Given the description of an element on the screen output the (x, y) to click on. 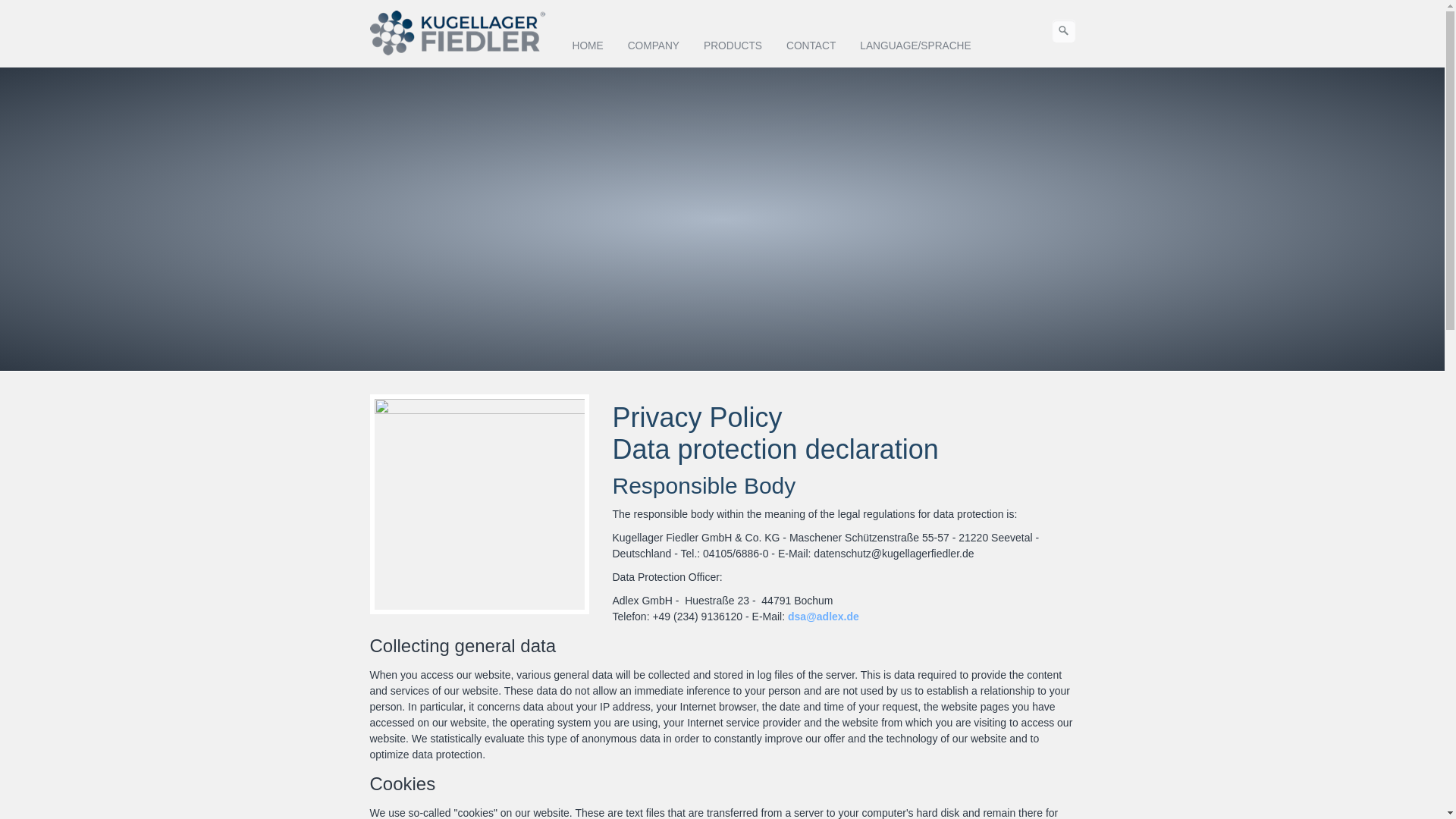
HOME (587, 45)
PRODUCTS (733, 45)
Suchen (1063, 30)
Suche (1063, 30)
COMPANY (652, 45)
CONTACT (810, 45)
